Given the description of an element on the screen output the (x, y) to click on. 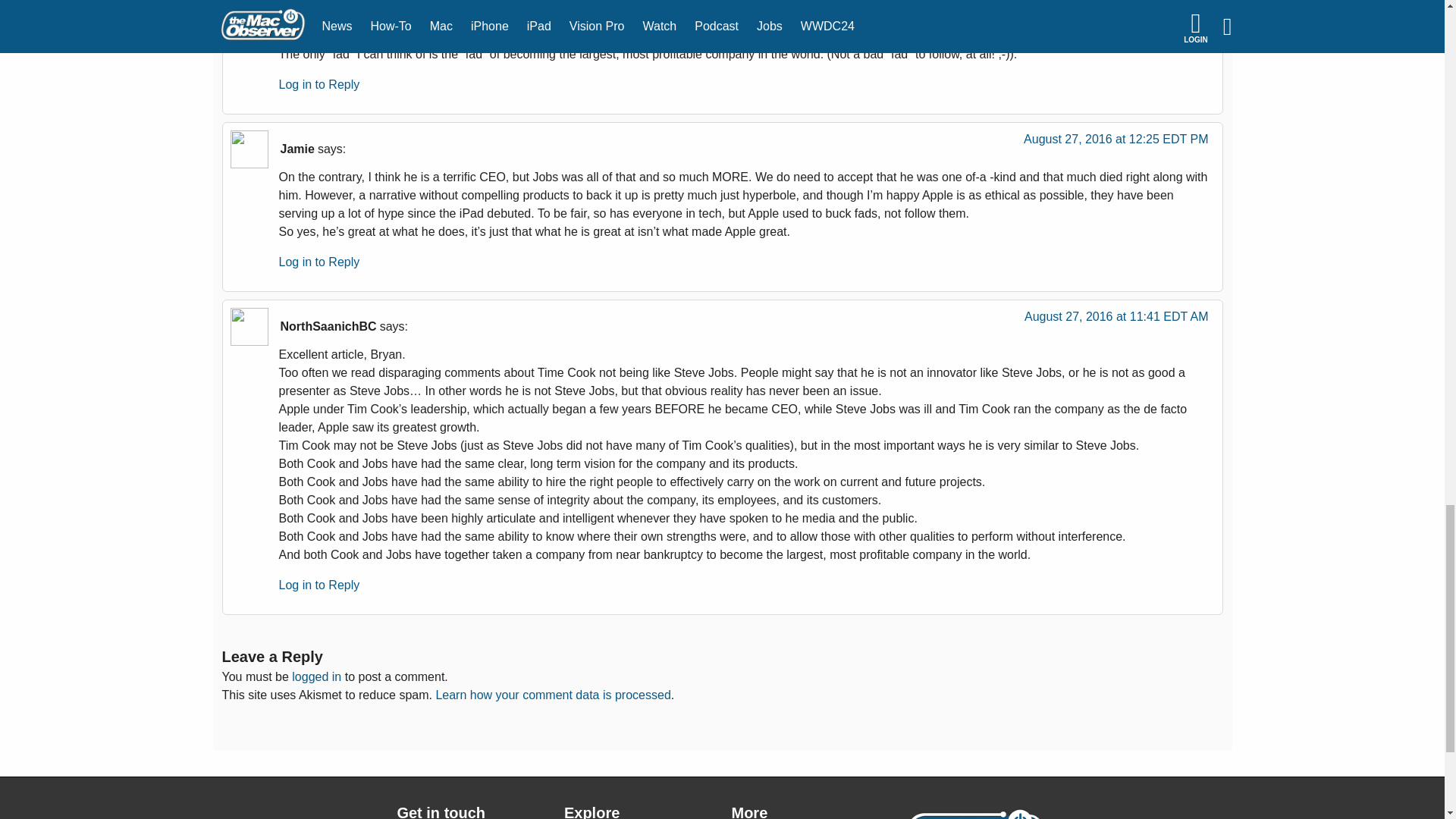
August 27, 2016 at 11:41 EDT AM (1116, 320)
Log in to Reply (319, 83)
Log in to Reply (319, 261)
August 27, 2016 at 12:25 EDT PM (1115, 143)
Log in to Reply (319, 584)
logged in (316, 676)
Learn how your comment data is processed (552, 694)
